Given the description of an element on the screen output the (x, y) to click on. 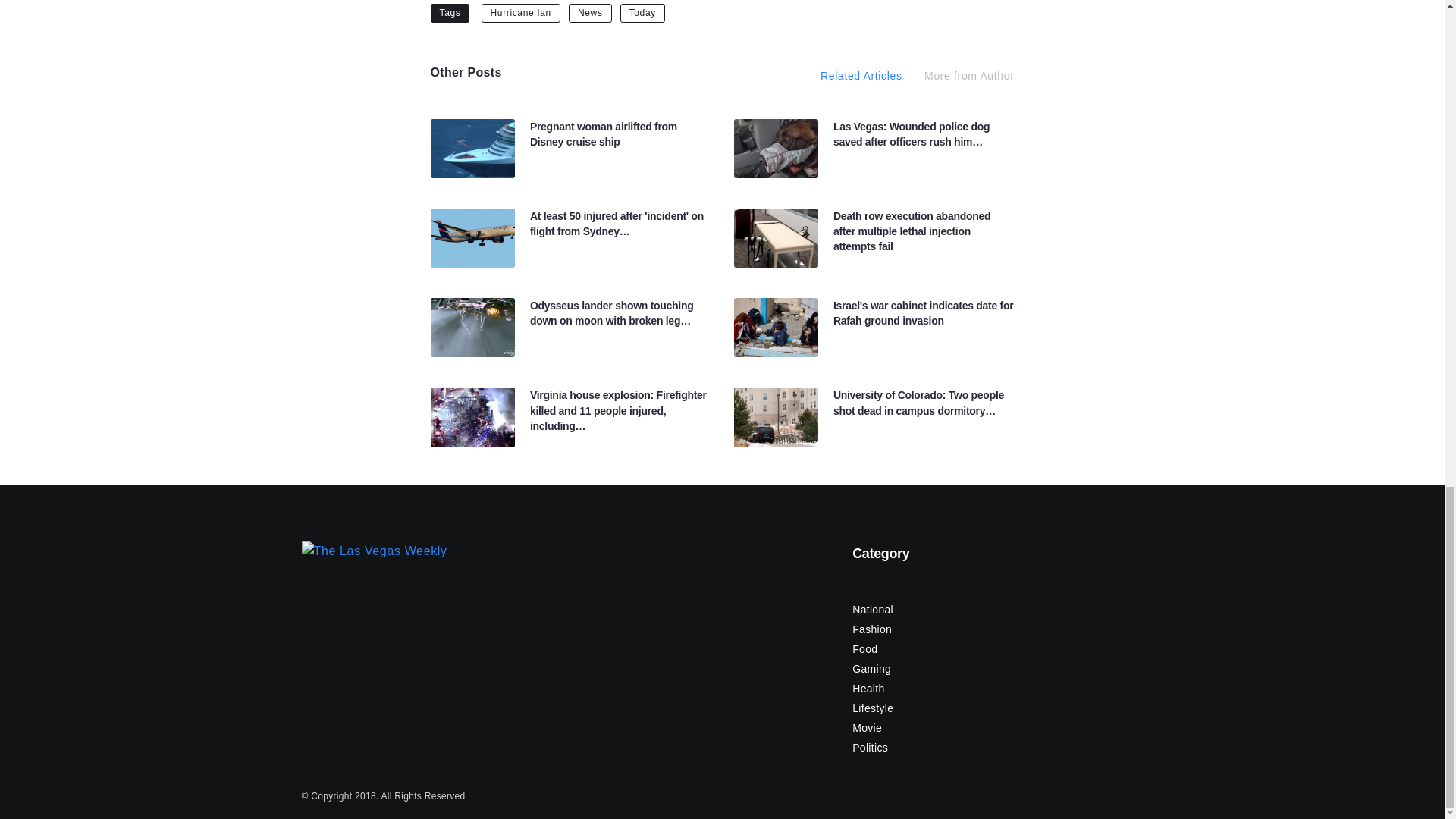
Pregnant woman airlifted from Disney cruise ship (603, 134)
Today (642, 12)
News (590, 12)
Pregnant woman airlifted from Disney cruise ship (603, 134)
Hurricane Ian (520, 12)
